Given the description of an element on the screen output the (x, y) to click on. 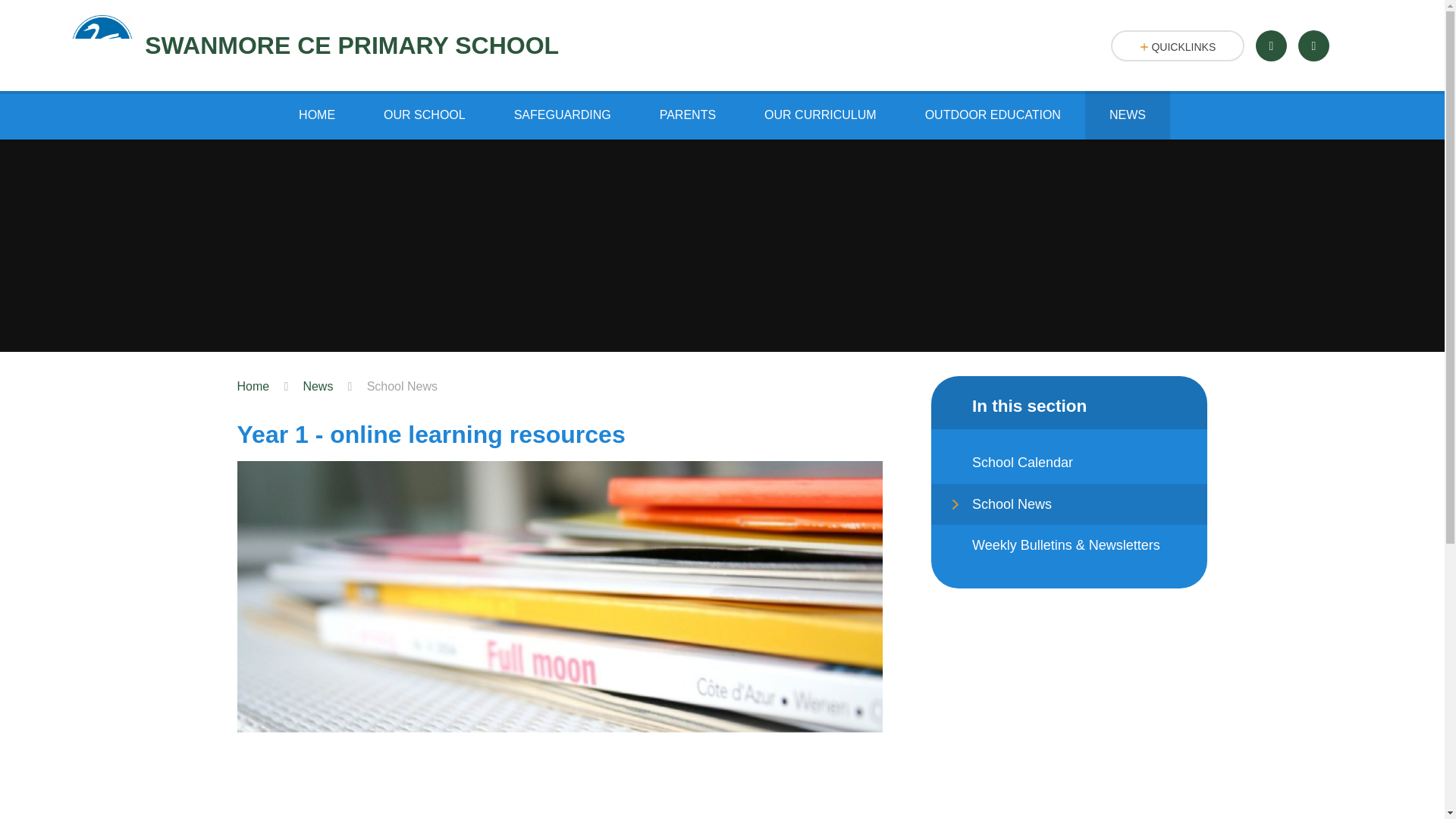
PARENTS (686, 114)
SWANMORE CE PRIMARY SCHOOL (315, 45)
HOME (317, 114)
OUR SCHOOL (424, 114)
SAFEGUARDING (561, 114)
Instagram (1313, 45)
Facebook (1271, 45)
